Given the description of an element on the screen output the (x, y) to click on. 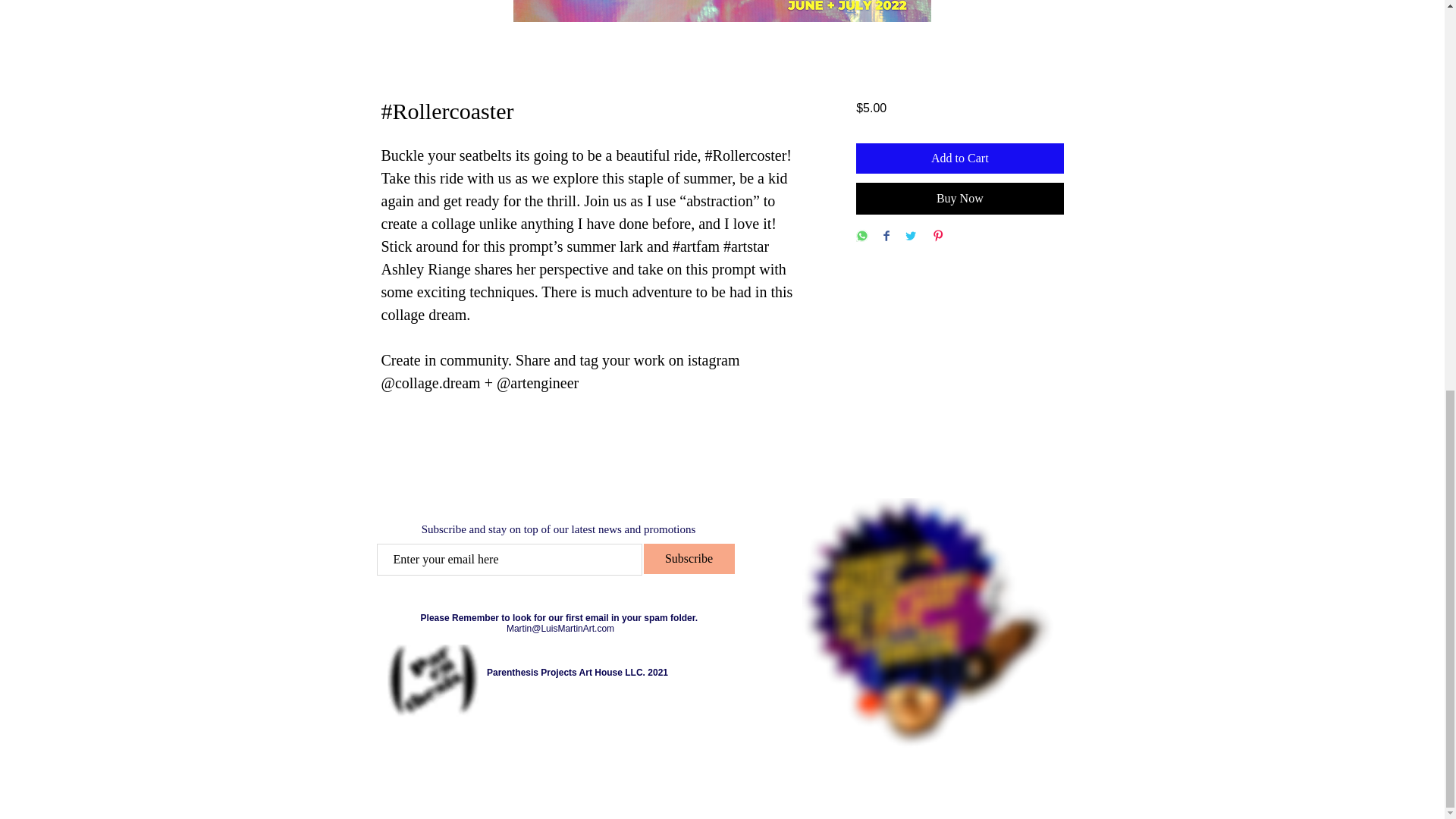
Add to Cart (959, 158)
Parenthesis Projects Art House LLC. 2021 (577, 672)
Buy Now (959, 198)
Subscribe (688, 558)
